Given the description of an element on the screen output the (x, y) to click on. 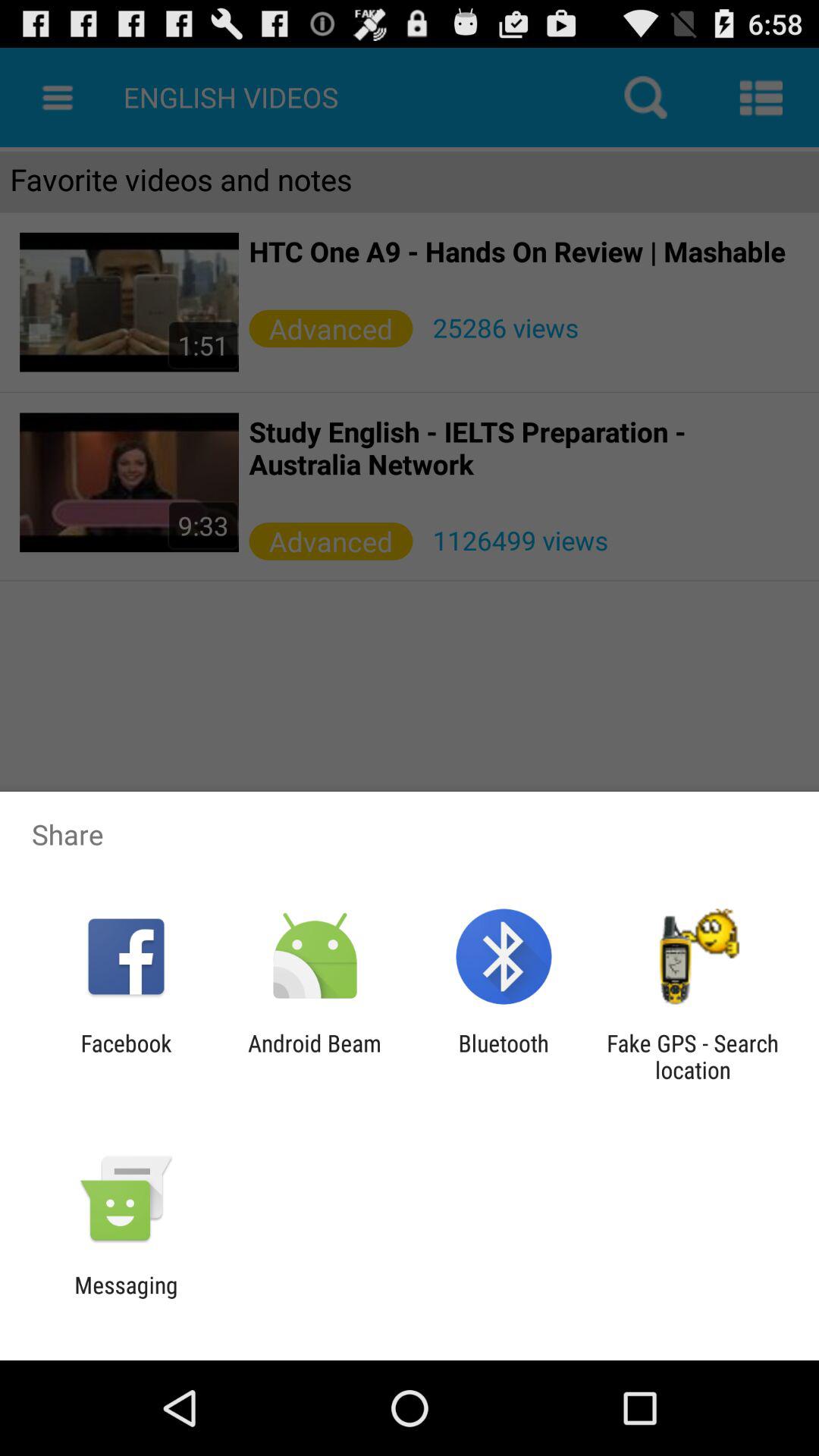
click the app next to the android beam (125, 1056)
